Given the description of an element on the screen output the (x, y) to click on. 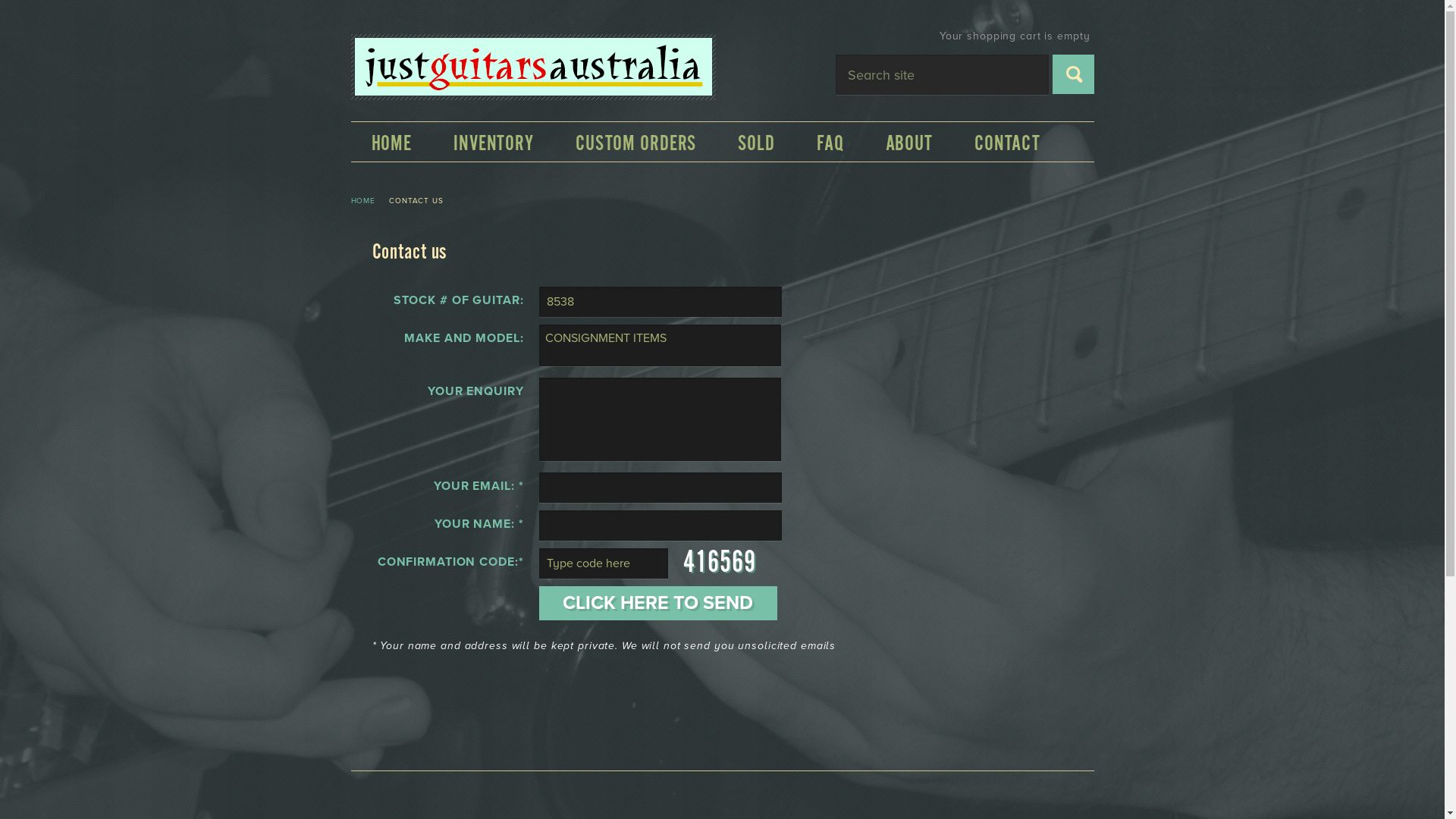
Click here to send Element type: text (657, 602)
Just Guitar Australia Element type: hover (532, 67)
CONTACT Element type: text (1007, 144)
INVENTORY Element type: text (494, 144)
ABOUT Element type: text (909, 144)
SOLD Element type: text (756, 144)
Search site Element type: hover (1073, 74)
Search site Element type: text (941, 74)
Just Guitar Australia Element type: hover (532, 96)
HOME Element type: text (391, 144)
FAQ Element type: text (830, 144)
Click here to send Element type: text (119, 17)
HOME Element type: text (362, 200)
CUSTOM ORDERS Element type: text (636, 144)
